Given the description of an element on the screen output the (x, y) to click on. 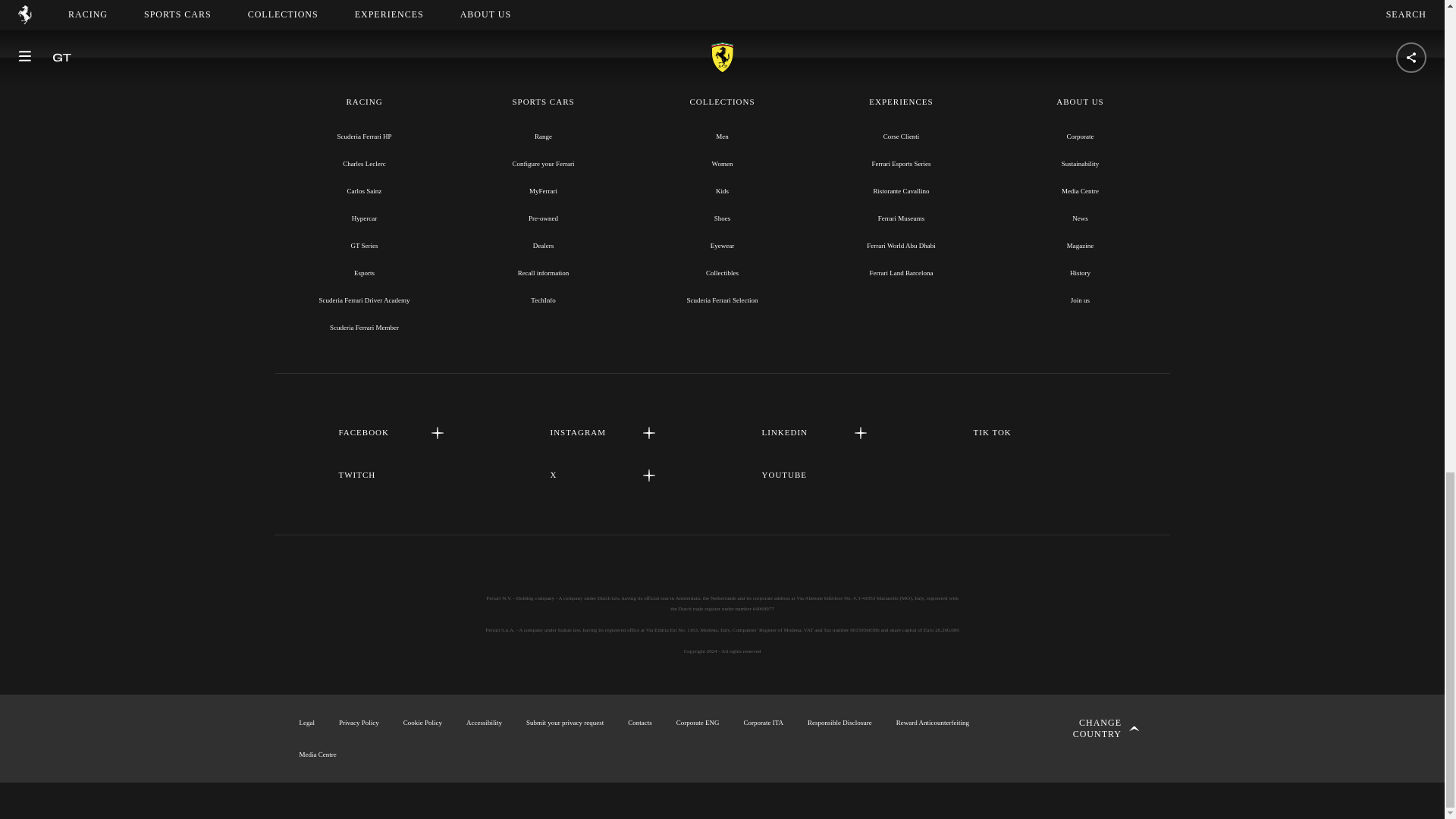
Shoes (722, 217)
Configure your Ferrari (543, 163)
Scuderia Ferrari Selection (722, 299)
Women (722, 163)
Charles Leclerc (363, 163)
Collectibles (722, 272)
Eyewear (721, 245)
Corse Clienti (901, 136)
Scuderia Ferrari HP (363, 136)
Change country (1090, 728)
